Given the description of an element on the screen output the (x, y) to click on. 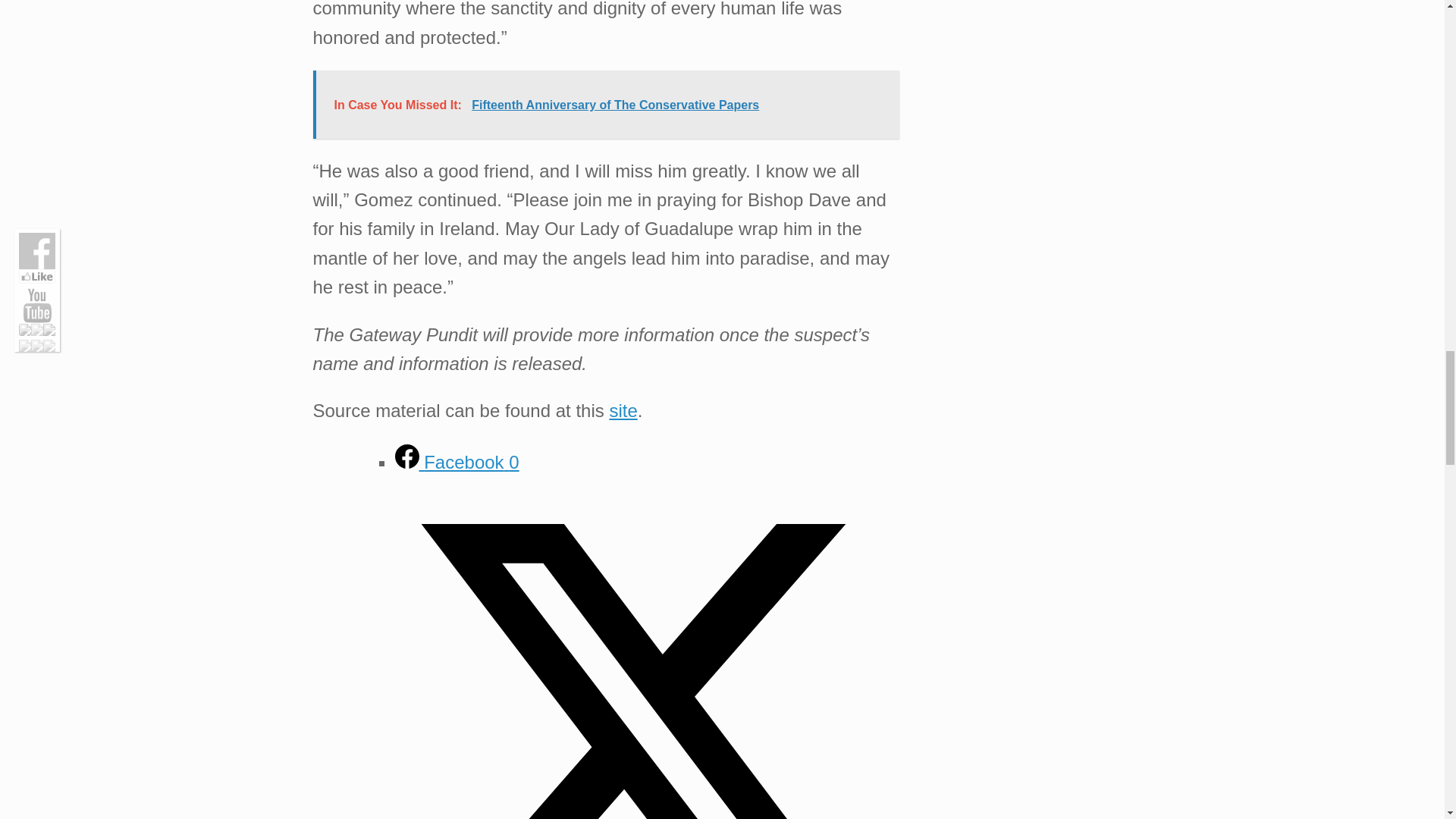
site (622, 410)
Facebook 0 (456, 462)
